Given the description of an element on the screen output the (x, y) to click on. 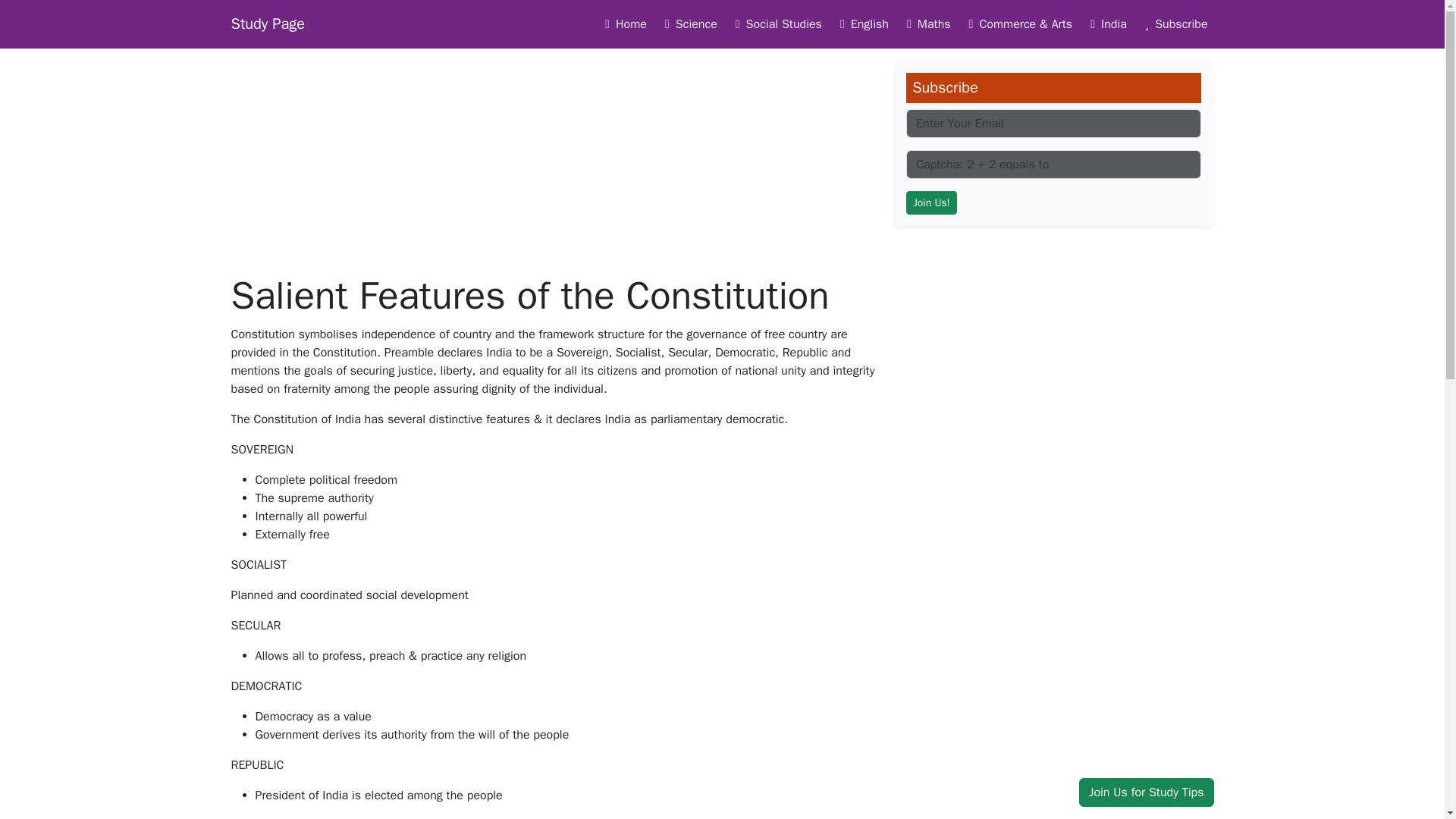
English (861, 23)
Social Studies (775, 23)
Study Page (267, 24)
Join Us! (930, 202)
India (1105, 23)
Subscribe (1173, 23)
Home (622, 23)
Study Page (267, 24)
Join Us for Study Tips (1145, 792)
Advertisement (1052, 345)
Maths (925, 23)
Science (687, 23)
Join Us! (930, 202)
